Given the description of an element on the screen output the (x, y) to click on. 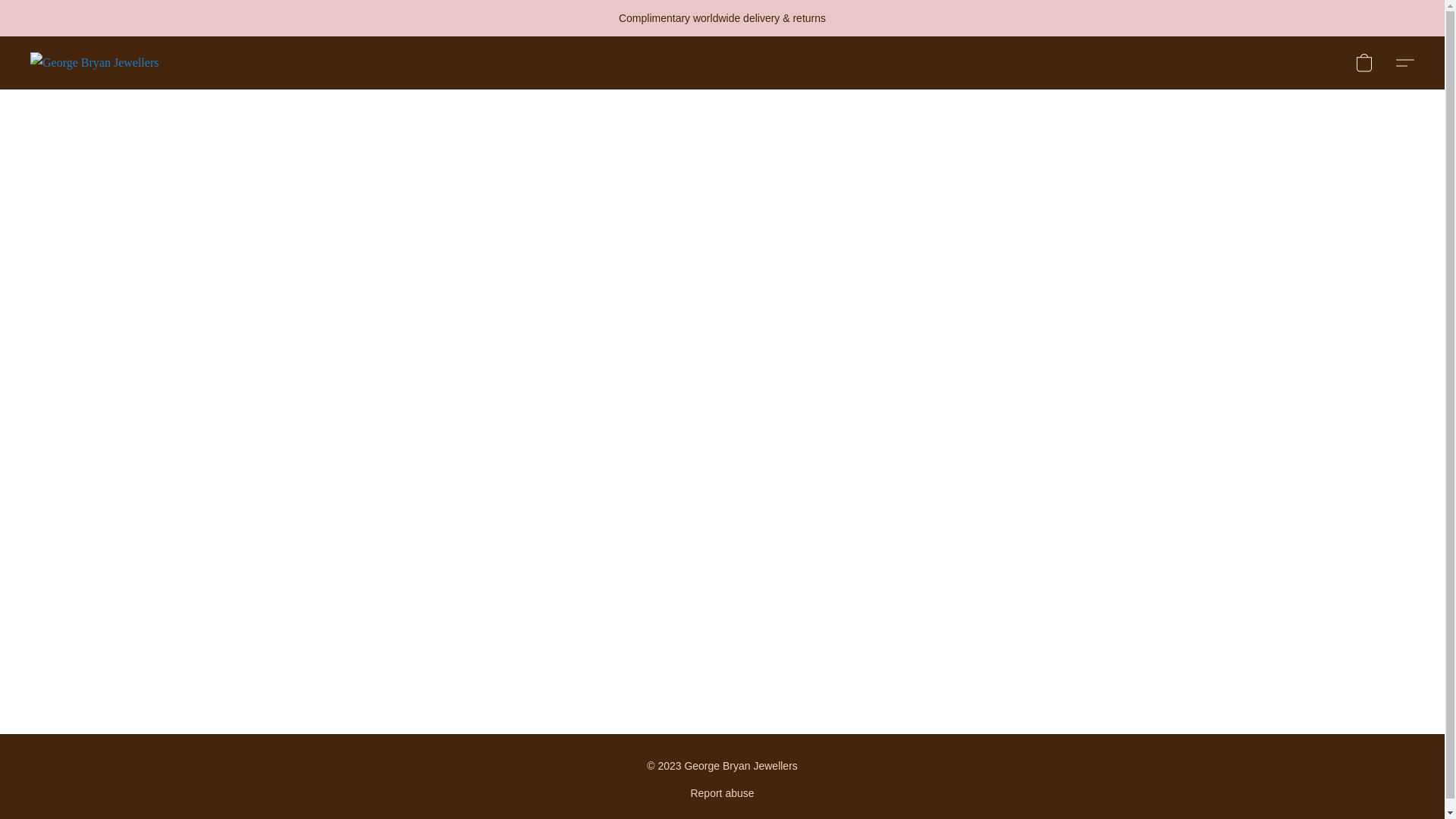
Report abuse (722, 792)
Go to your shopping cart (1363, 62)
